Given the description of an element on the screen output the (x, y) to click on. 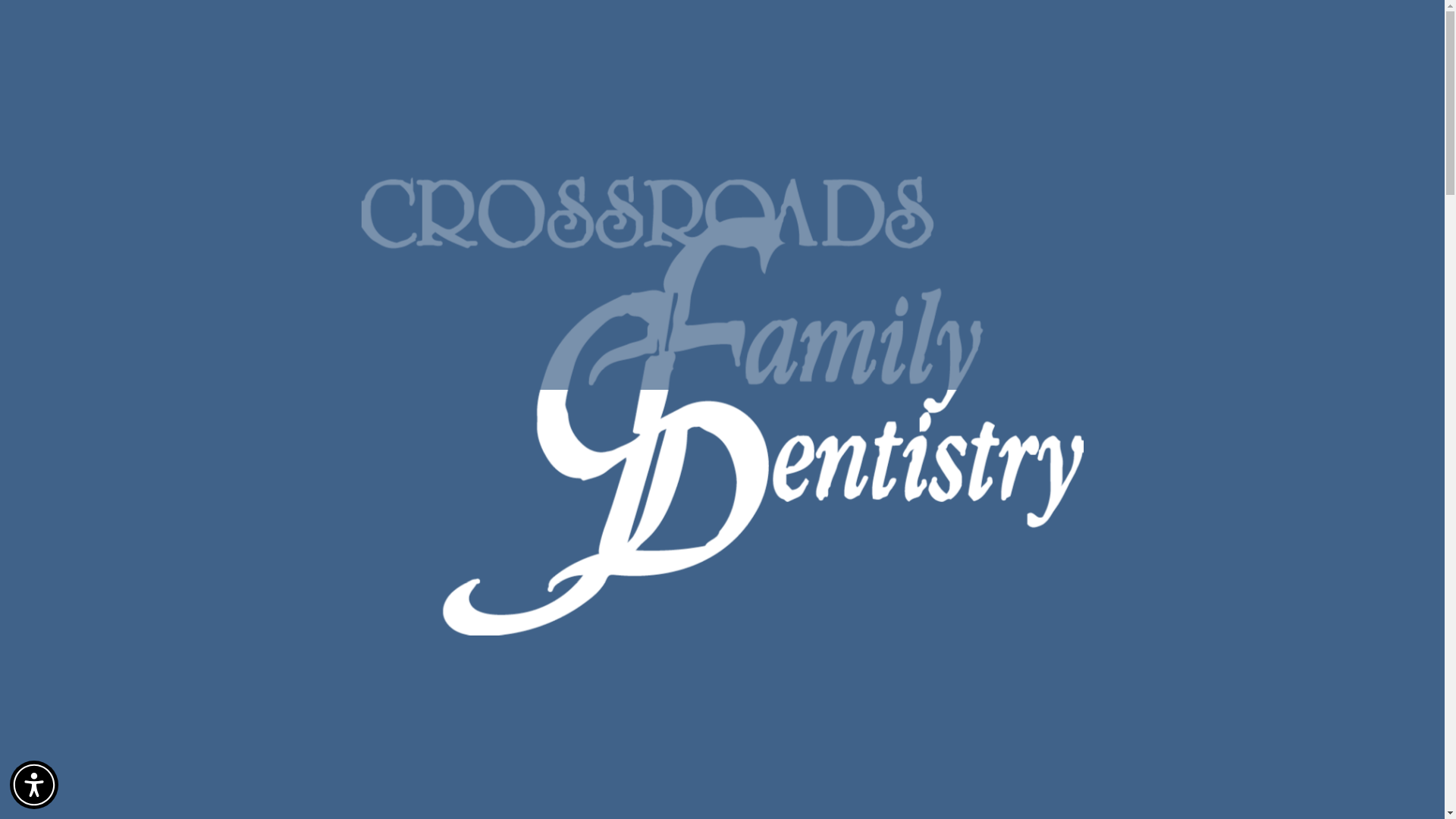
About (456, 33)
Services (509, 33)
Accessibility Menu (34, 784)
Patient Resources (589, 33)
